Given the description of an element on the screen output the (x, y) to click on. 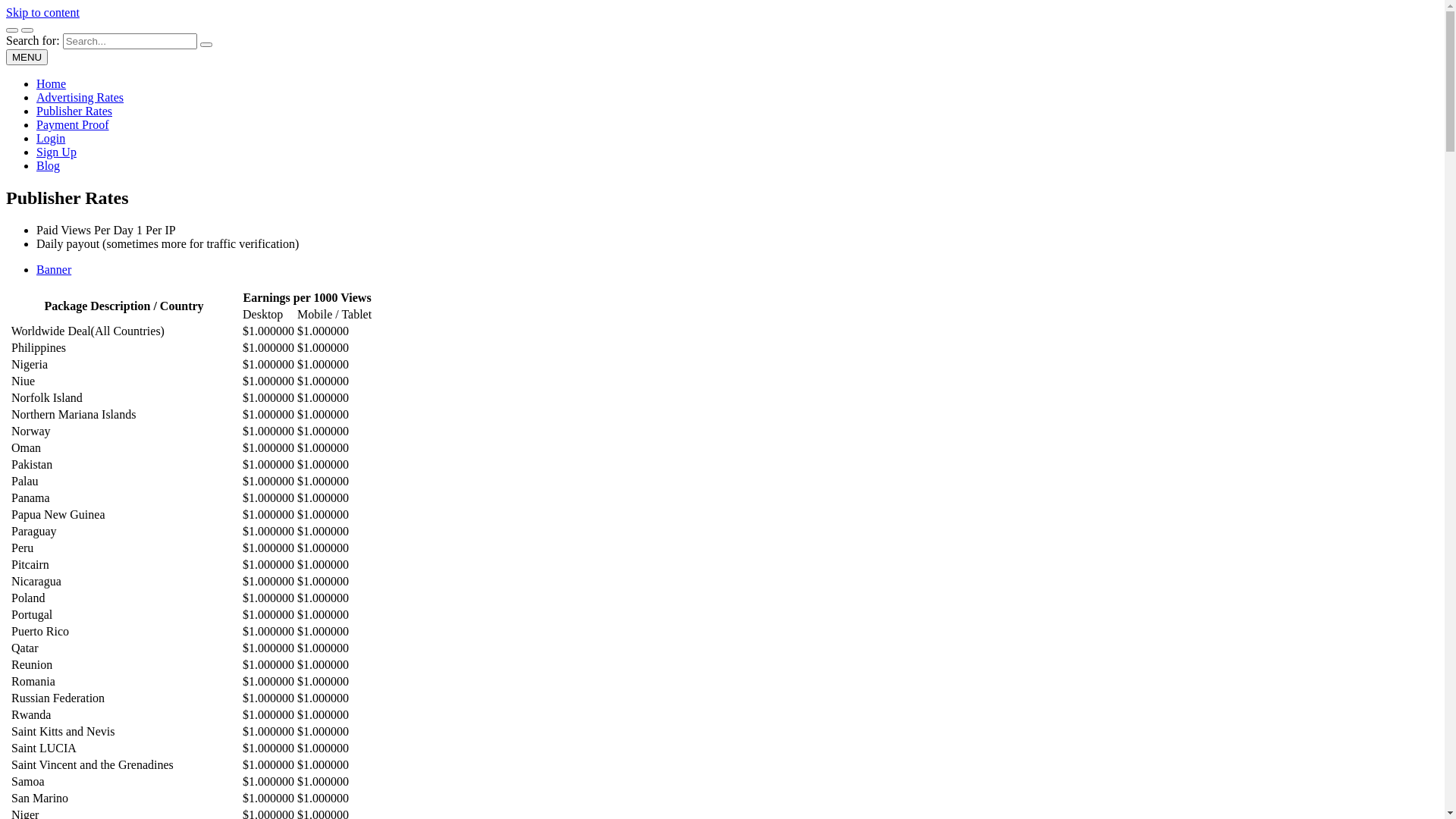
Login Element type: text (50, 137)
Blog Element type: text (47, 165)
Home Element type: text (50, 83)
Skip to content Element type: text (42, 12)
Shrink your url to track your trafiic or earn free bitcoin Element type: text (295, 48)
Sign Up Element type: text (56, 151)
Payment Proof Element type: text (72, 124)
MENU Element type: text (26, 57)
Publisher Rates Element type: text (74, 110)
Advertising Rates Element type: text (79, 97)
Banner Element type: text (53, 269)
